Given the description of an element on the screen output the (x, y) to click on. 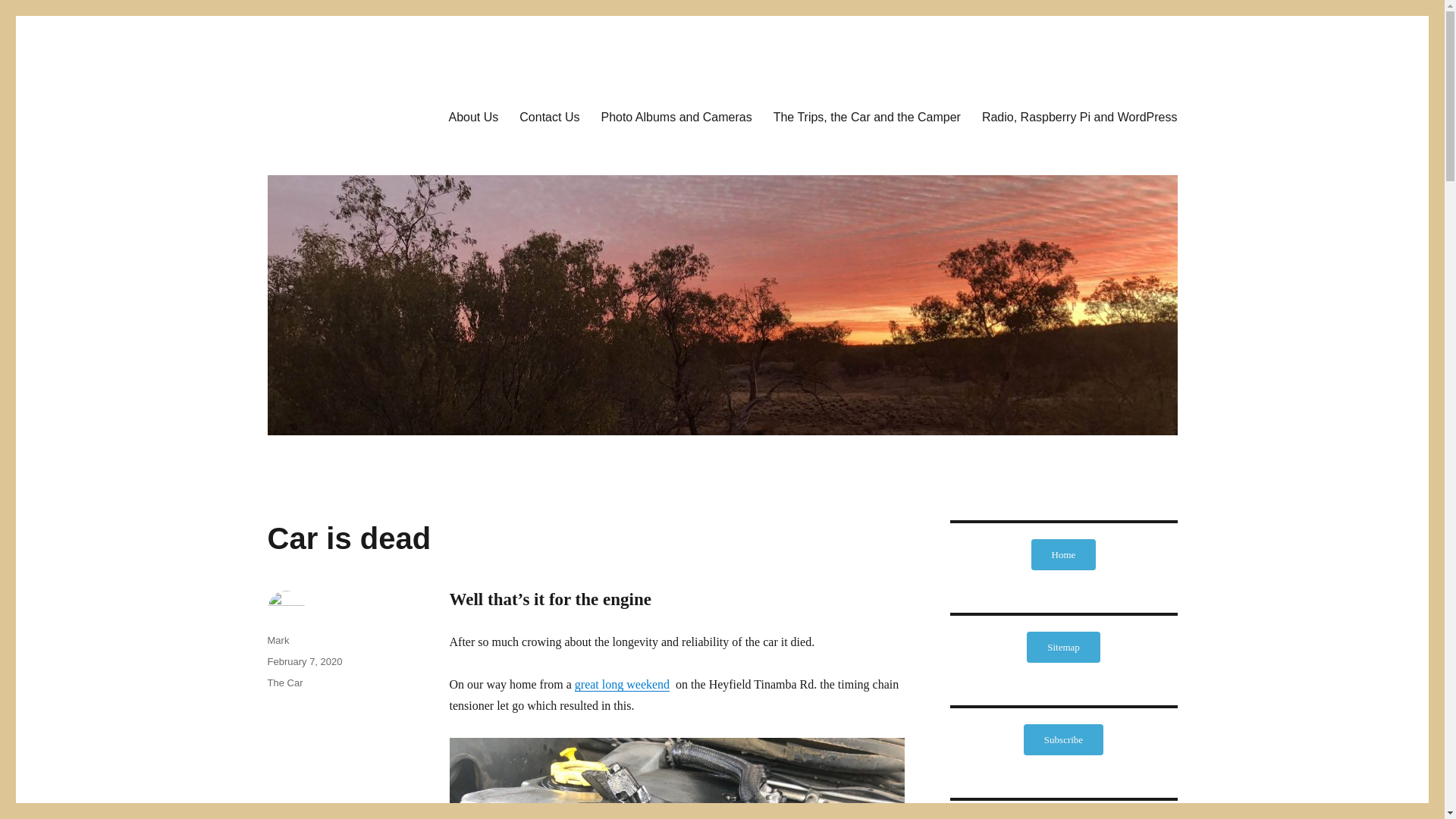
Photo Albums and Cameras (675, 116)
Mark's Stuff (326, 114)
great long weekend (622, 684)
About Us (473, 116)
Contact Us (548, 116)
The Trips, the Car and the Camper (866, 116)
Sitemap (1063, 646)
RSS Feed (1062, 817)
Home (1063, 554)
Radio, Raspberry Pi and WordPress (1079, 116)
